Given the description of an element on the screen output the (x, y) to click on. 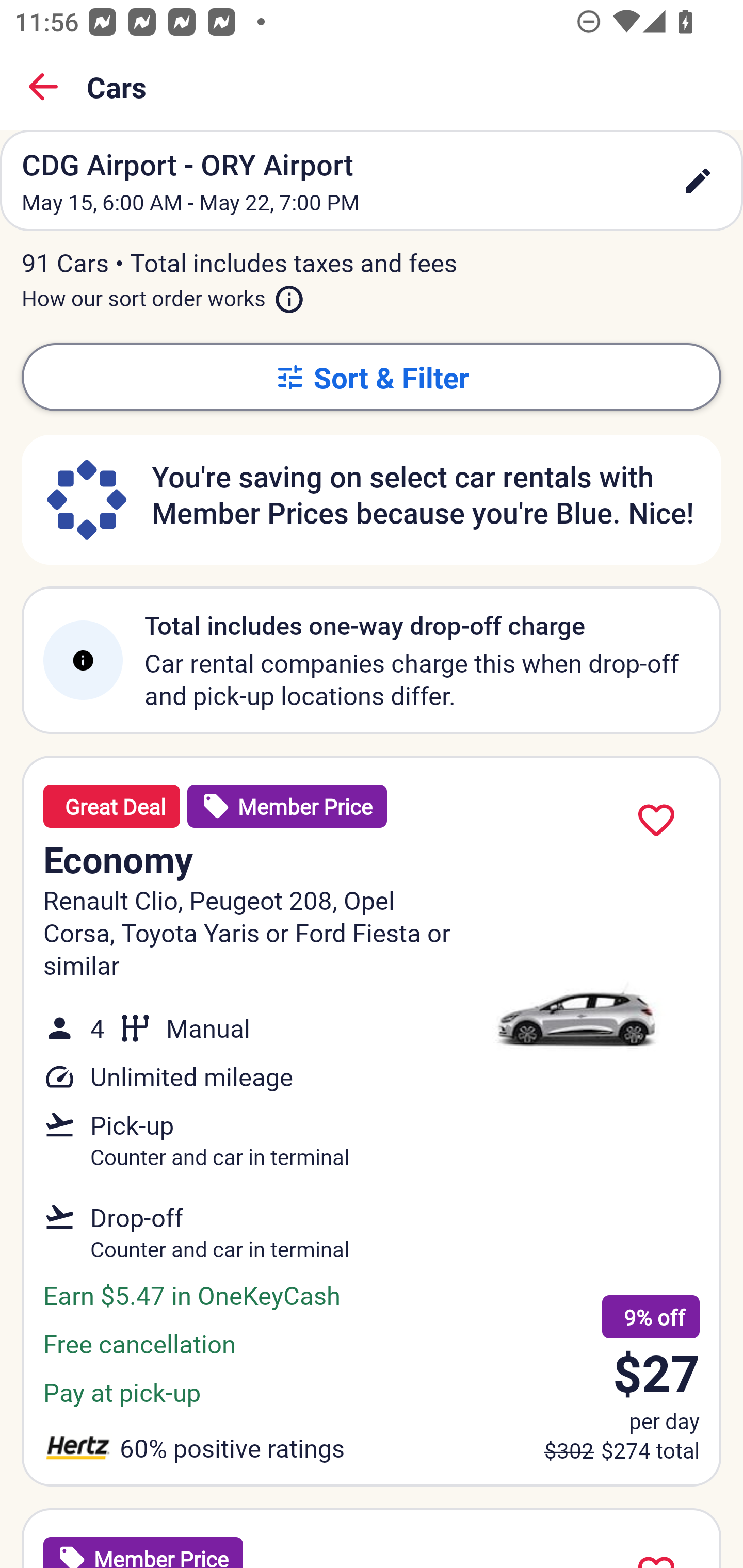
Back (43, 86)
edit (697, 180)
How our sort order works (163, 294)
Sort & Filter (371, 376)
